Given the description of an element on the screen output the (x, y) to click on. 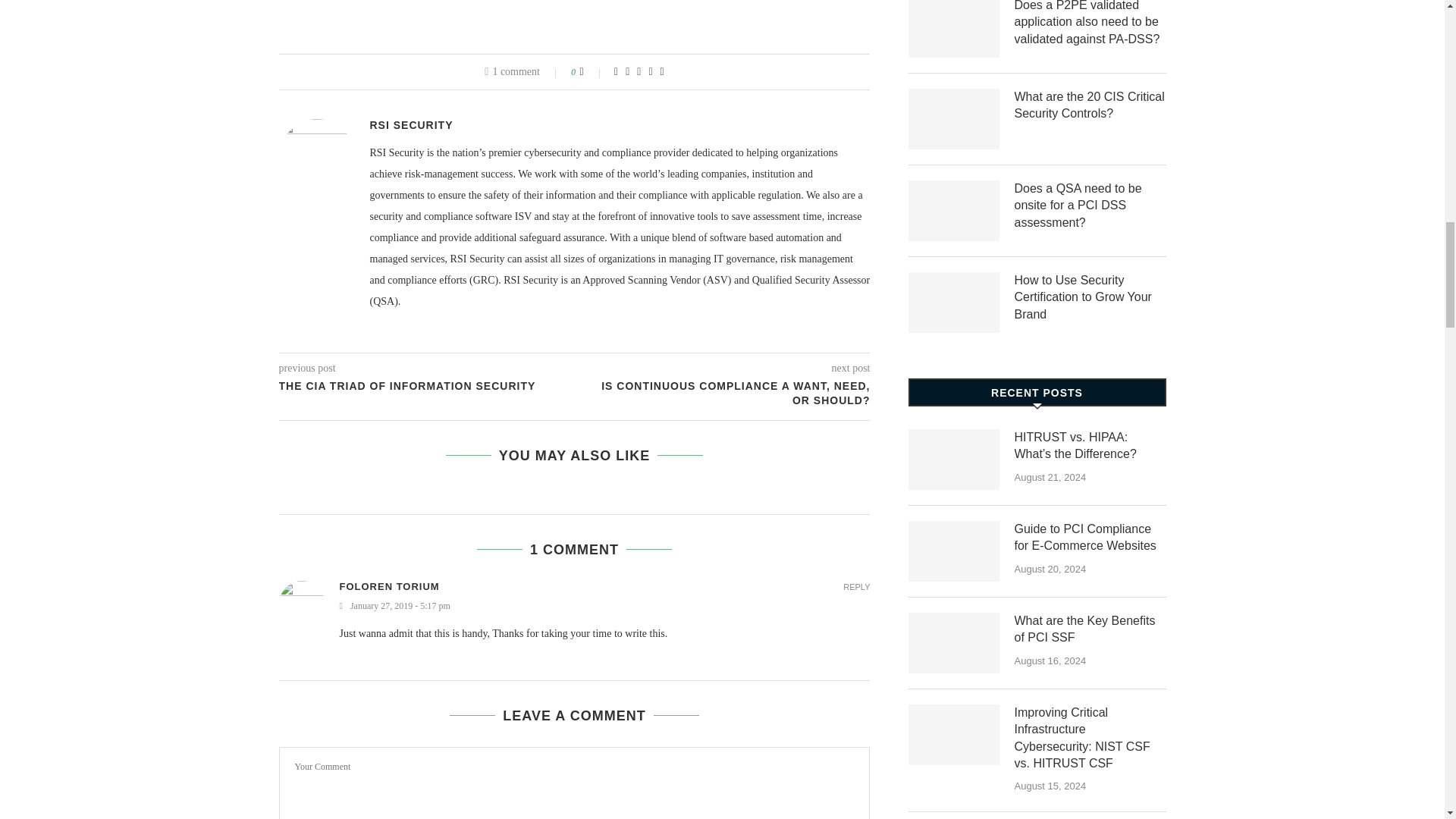
Sunday, January 27, 2019, 5:17 pm (604, 605)
Posts by RSI Security (410, 124)
Like (591, 71)
